Given the description of an element on the screen output the (x, y) to click on. 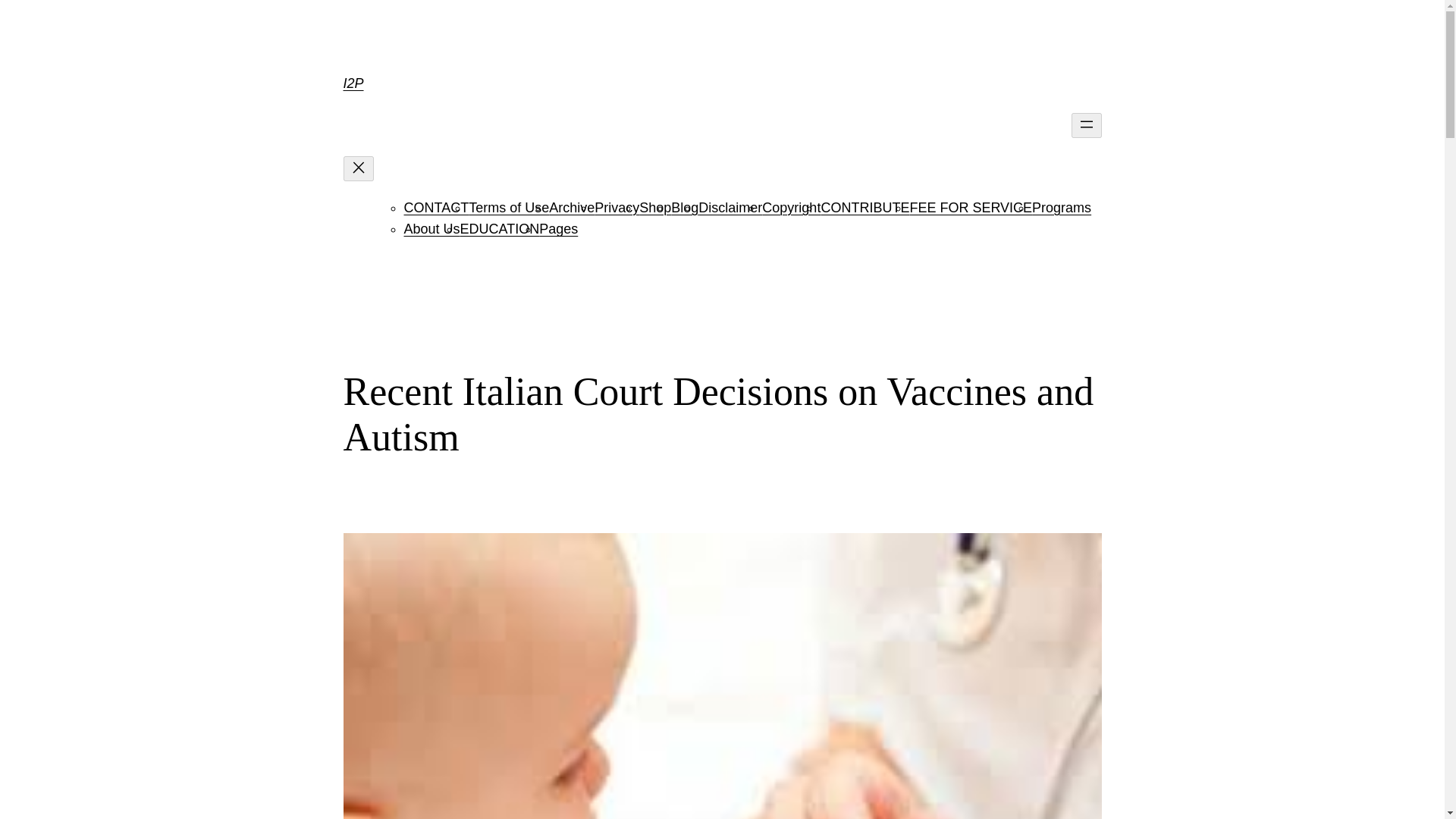
CONTACT (435, 207)
Copyright (791, 207)
Shop (655, 207)
Privacy (616, 207)
EDUCATION (500, 228)
Pages (558, 228)
Blog (684, 207)
About Us (431, 228)
Terms of Use (508, 207)
FEE FOR SERVICE (970, 207)
I2P (352, 83)
CONTRIBUTE (864, 207)
Archive (571, 207)
Disclaimer (729, 207)
Programs (1061, 207)
